Given the description of an element on the screen output the (x, y) to click on. 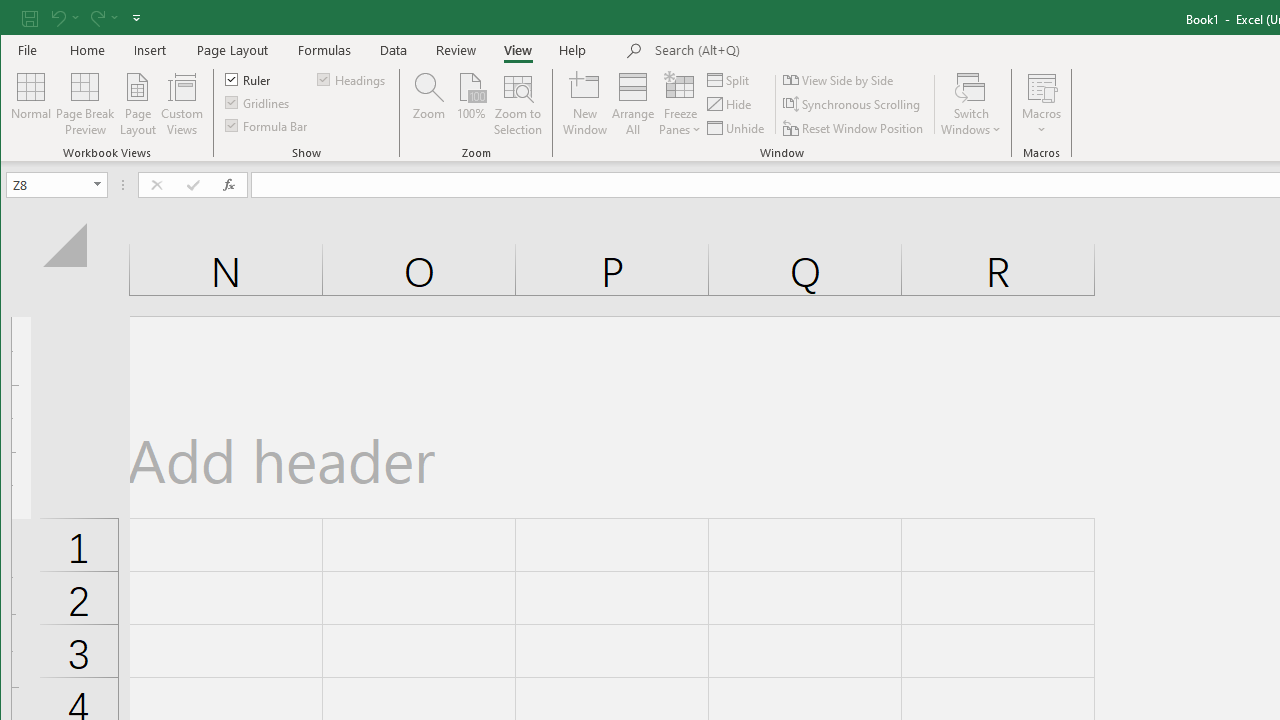
New Window (585, 104)
Headings (352, 78)
Hide (730, 103)
Freeze Panes (680, 104)
Custom Views... (182, 104)
Unhide... (737, 127)
